Given the description of an element on the screen output the (x, y) to click on. 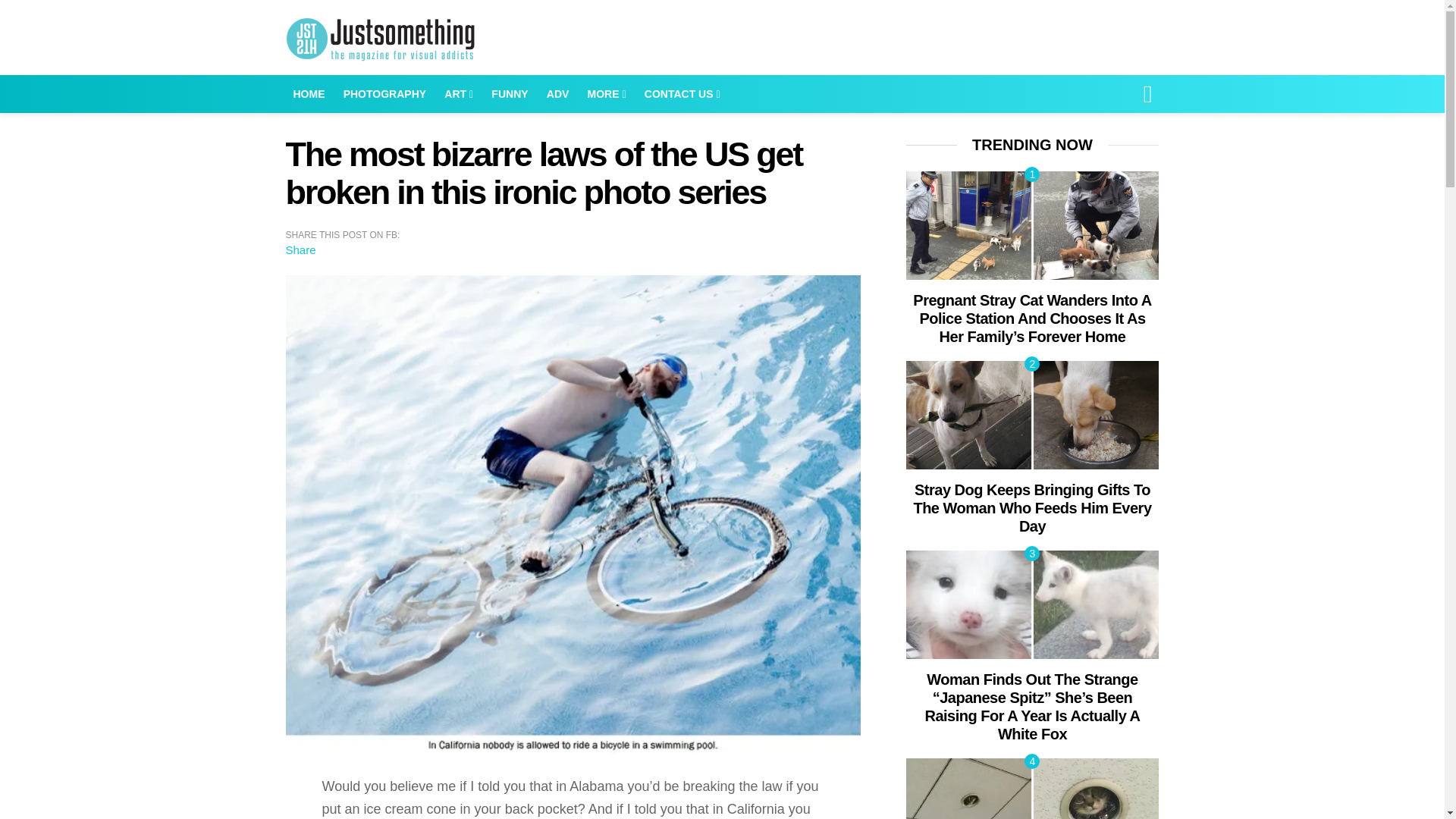
PHOTOGRAPHY (384, 93)
HOME (308, 93)
Share (300, 248)
MORE (606, 93)
FUNNY (509, 93)
ADV (557, 93)
CONTACT US (682, 93)
ART (458, 93)
